Given the description of an element on the screen output the (x, y) to click on. 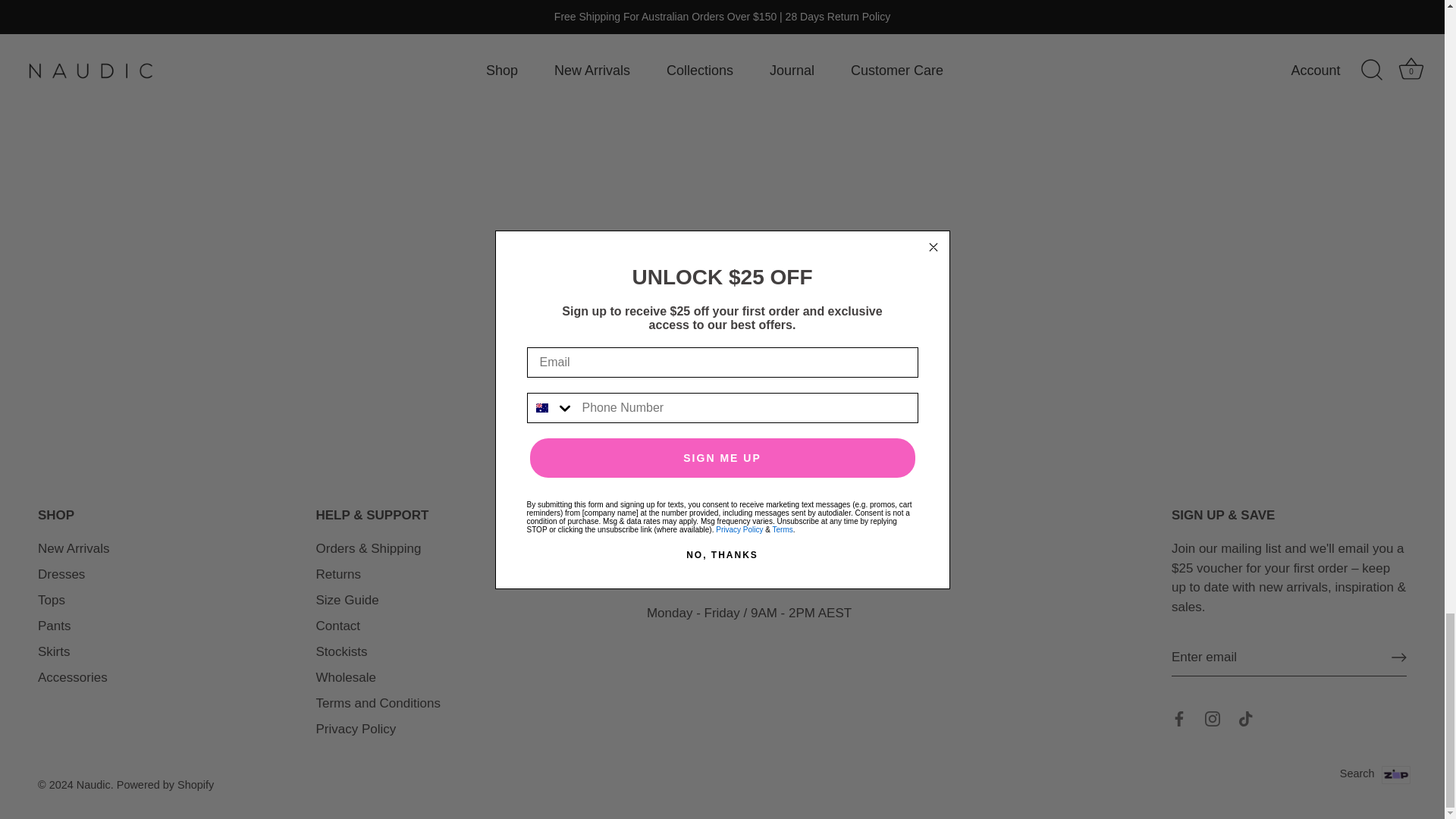
Instagram (1212, 676)
RIGHT ARROW LONG (1398, 614)
